Given the description of an element on the screen output the (x, y) to click on. 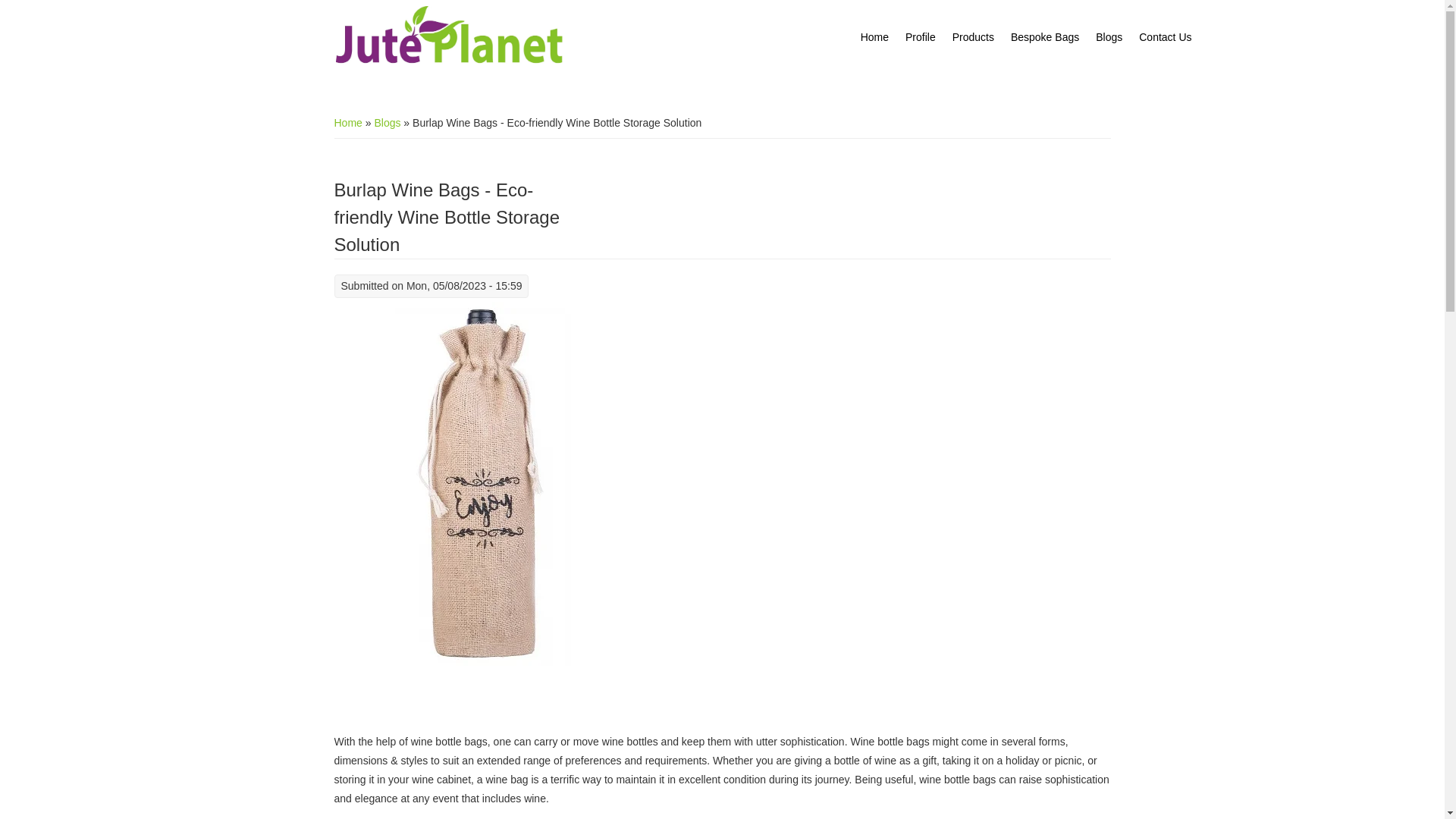
Products (973, 37)
Blogs (387, 122)
Profile (919, 37)
Blogs (1109, 37)
Products (973, 37)
Bespoke Bags (1045, 37)
Home (347, 122)
Profile (919, 37)
Home (873, 37)
Contact Us (1165, 37)
